Given the description of an element on the screen output the (x, y) to click on. 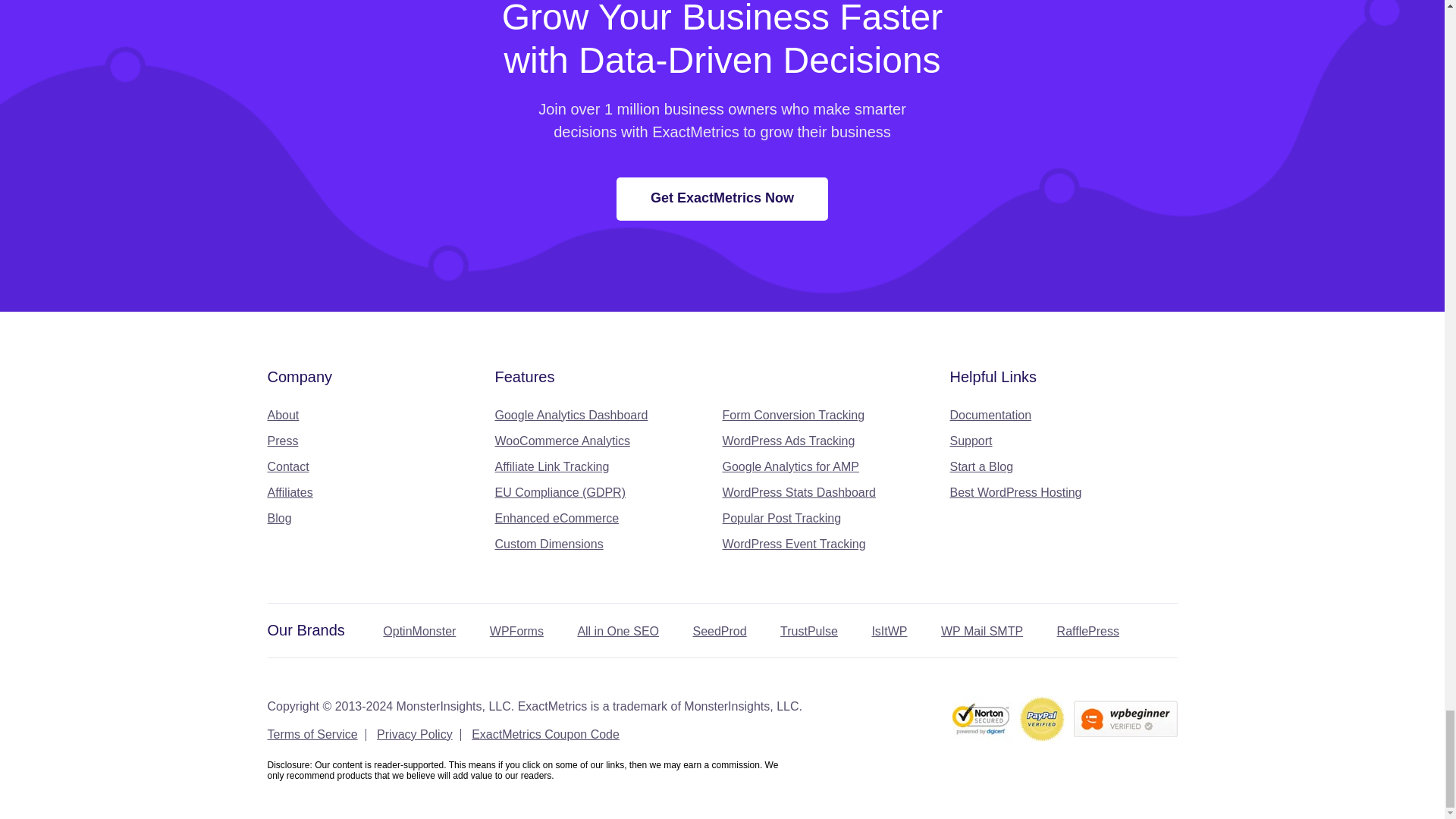
WP Beginner (1125, 719)
